Given the description of an element on the screen output the (x, y) to click on. 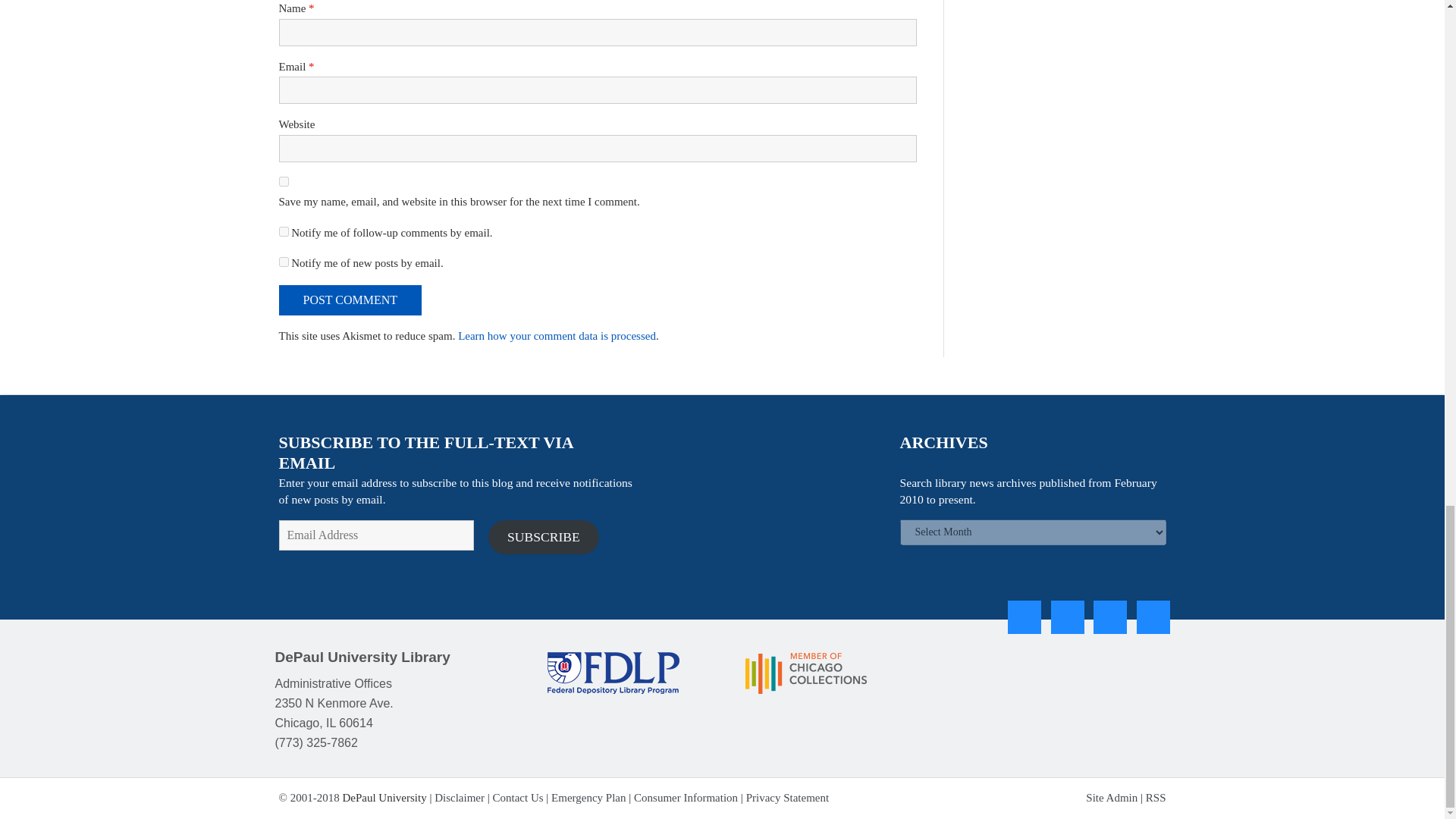
Learn how your comment data is processed (557, 336)
subscribe (283, 231)
yes (283, 181)
SUBSCRIBE (543, 537)
Post Comment (350, 300)
Facebook (1024, 616)
Post Comment (350, 300)
subscribe (283, 261)
